Given the description of an element on the screen output the (x, y) to click on. 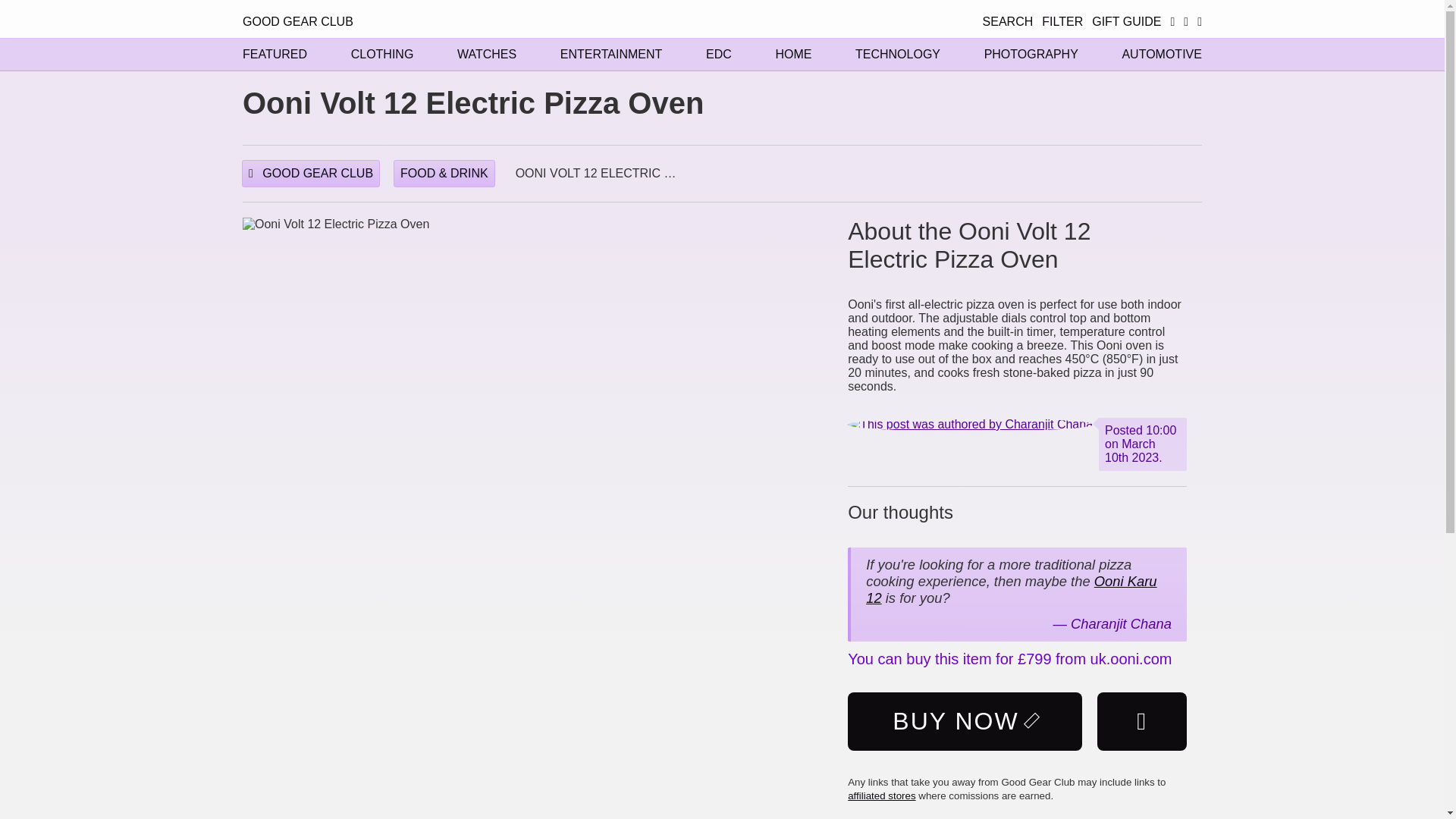
FILTER (1062, 21)
PHOTOGRAPHY (1031, 53)
TECHNOLOGY (898, 53)
ENTERTAINMENT (611, 53)
SEARCH (1007, 21)
Ooni Karu 12 (1011, 589)
HOME (792, 53)
BUY NOW (964, 721)
WATCHES (486, 53)
affiliated stores (881, 795)
